Given the description of an element on the screen output the (x, y) to click on. 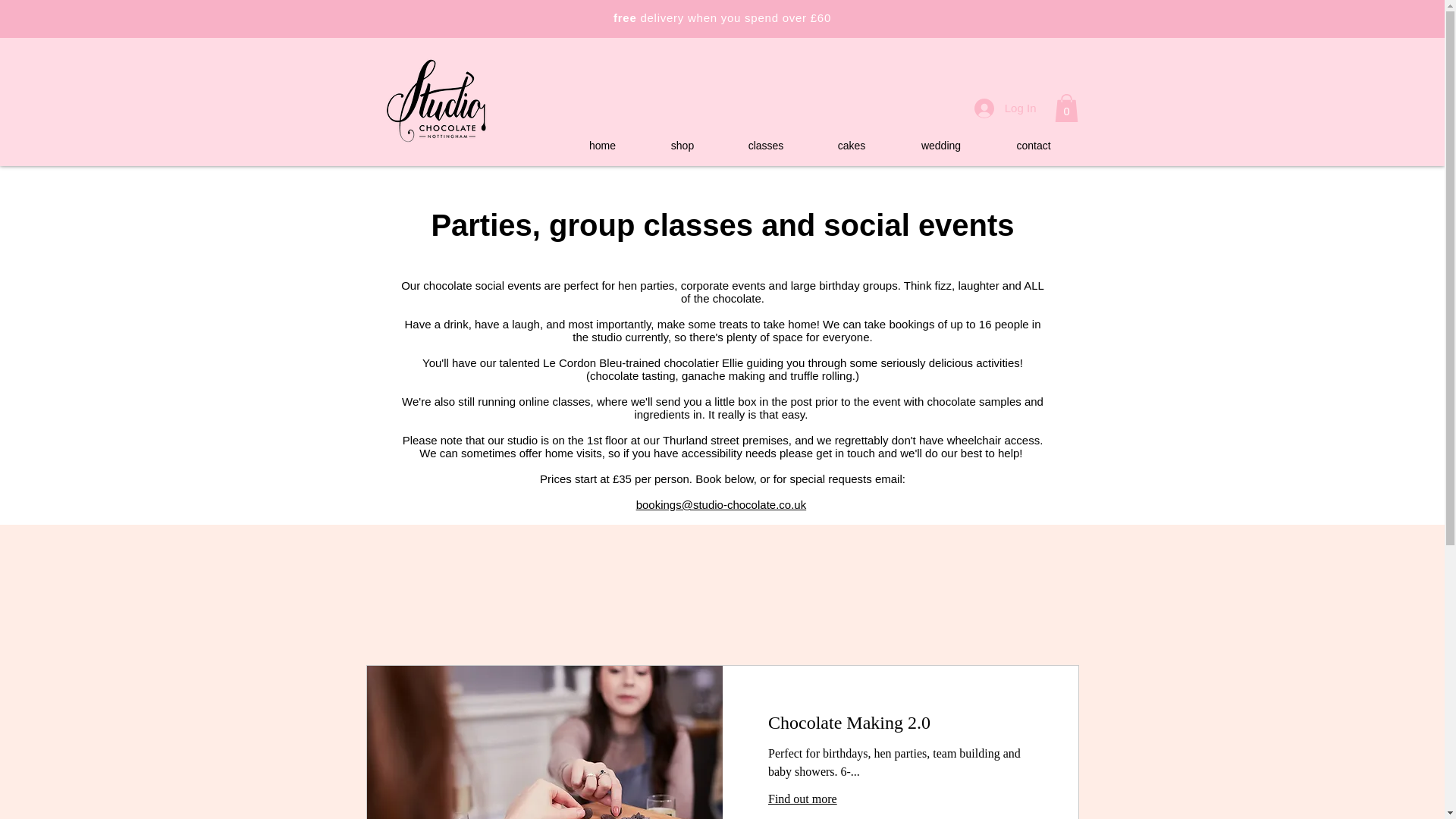
Find out more (899, 799)
classes (766, 146)
logo.png (436, 101)
shop (681, 146)
contact (1032, 146)
Chocolate Making 2.0 (899, 723)
home (601, 146)
Log In (1004, 108)
cakes (850, 146)
wedding (941, 146)
